Given the description of an element on the screen output the (x, y) to click on. 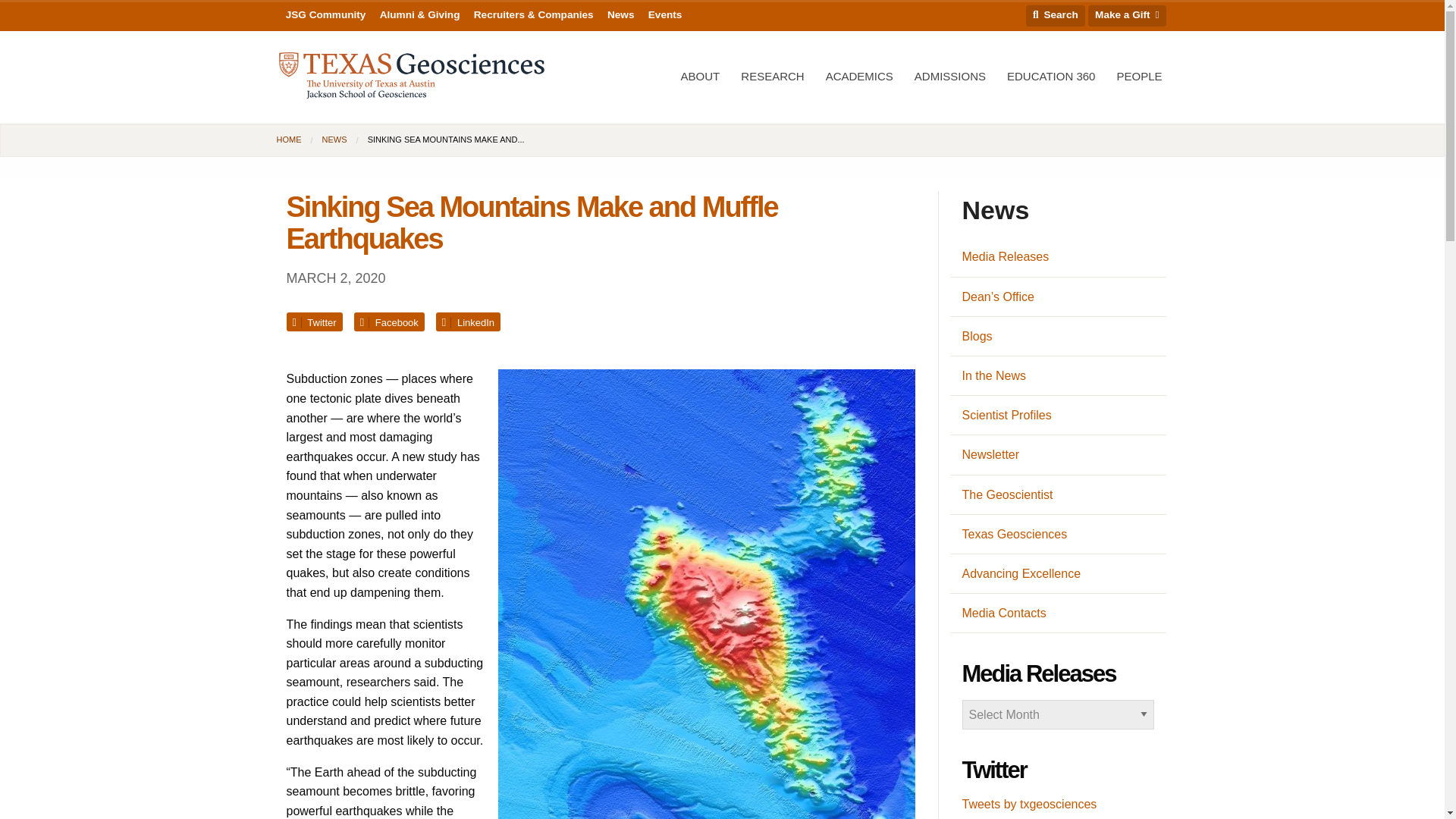
Archives (1056, 714)
Search (1055, 15)
Events (665, 15)
JSG Community (325, 15)
News (620, 15)
Jackson School of Geosciences (411, 75)
